Given the description of an element on the screen output the (x, y) to click on. 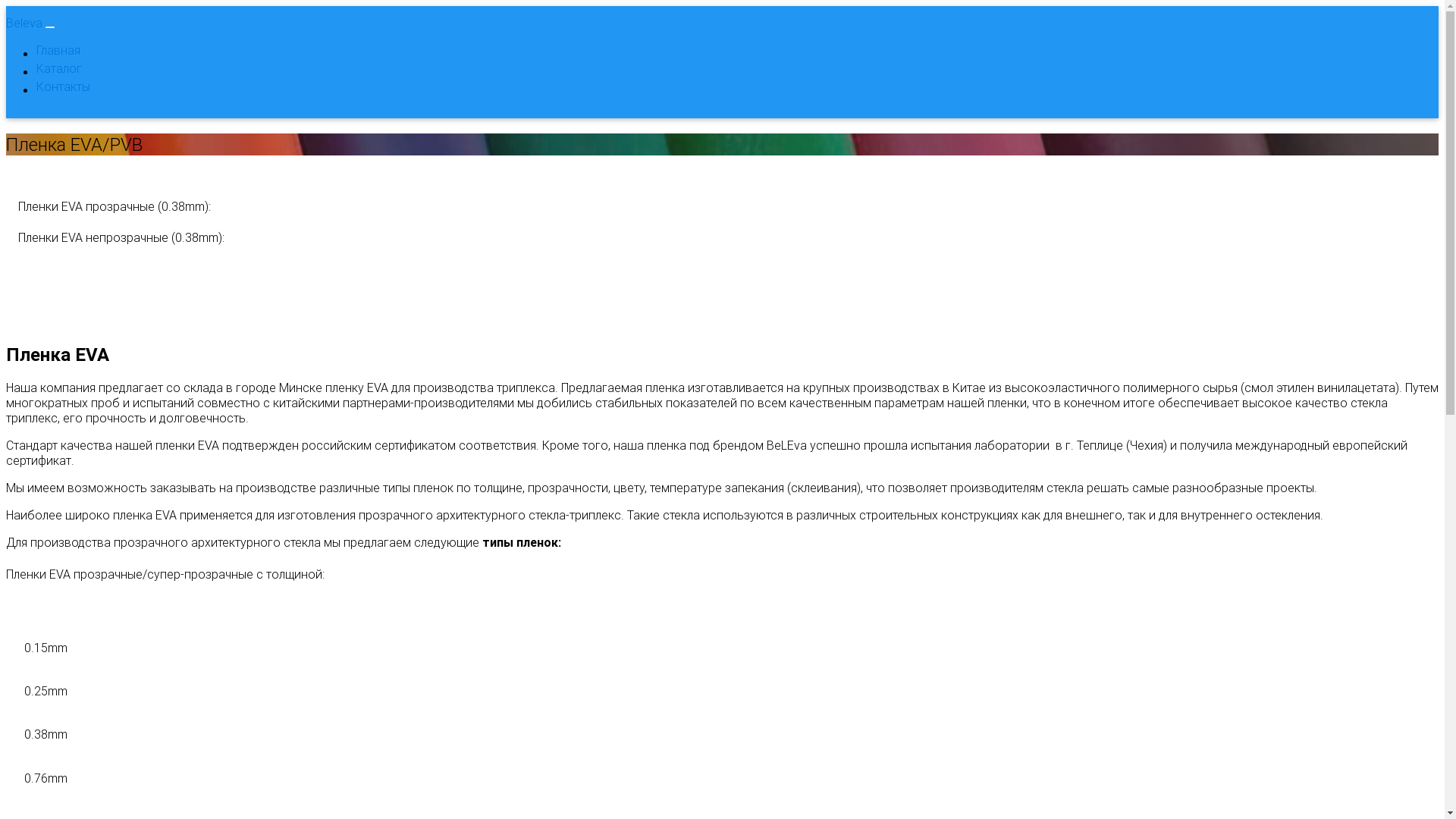
Beleva Element type: text (24, 22)
